Given the description of an element on the screen output the (x, y) to click on. 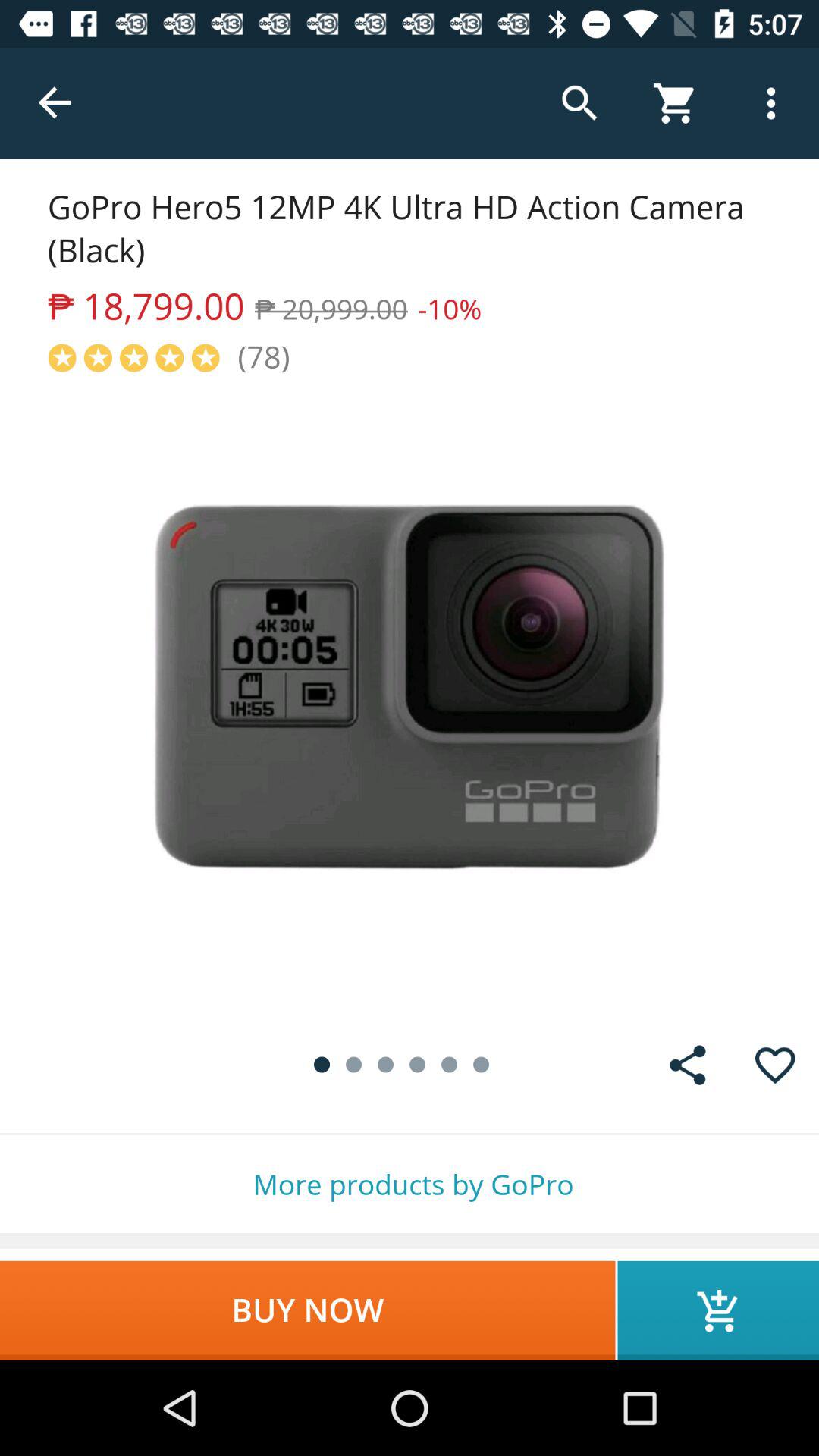
choose the item above the more products by icon (775, 1065)
